Given the description of an element on the screen output the (x, y) to click on. 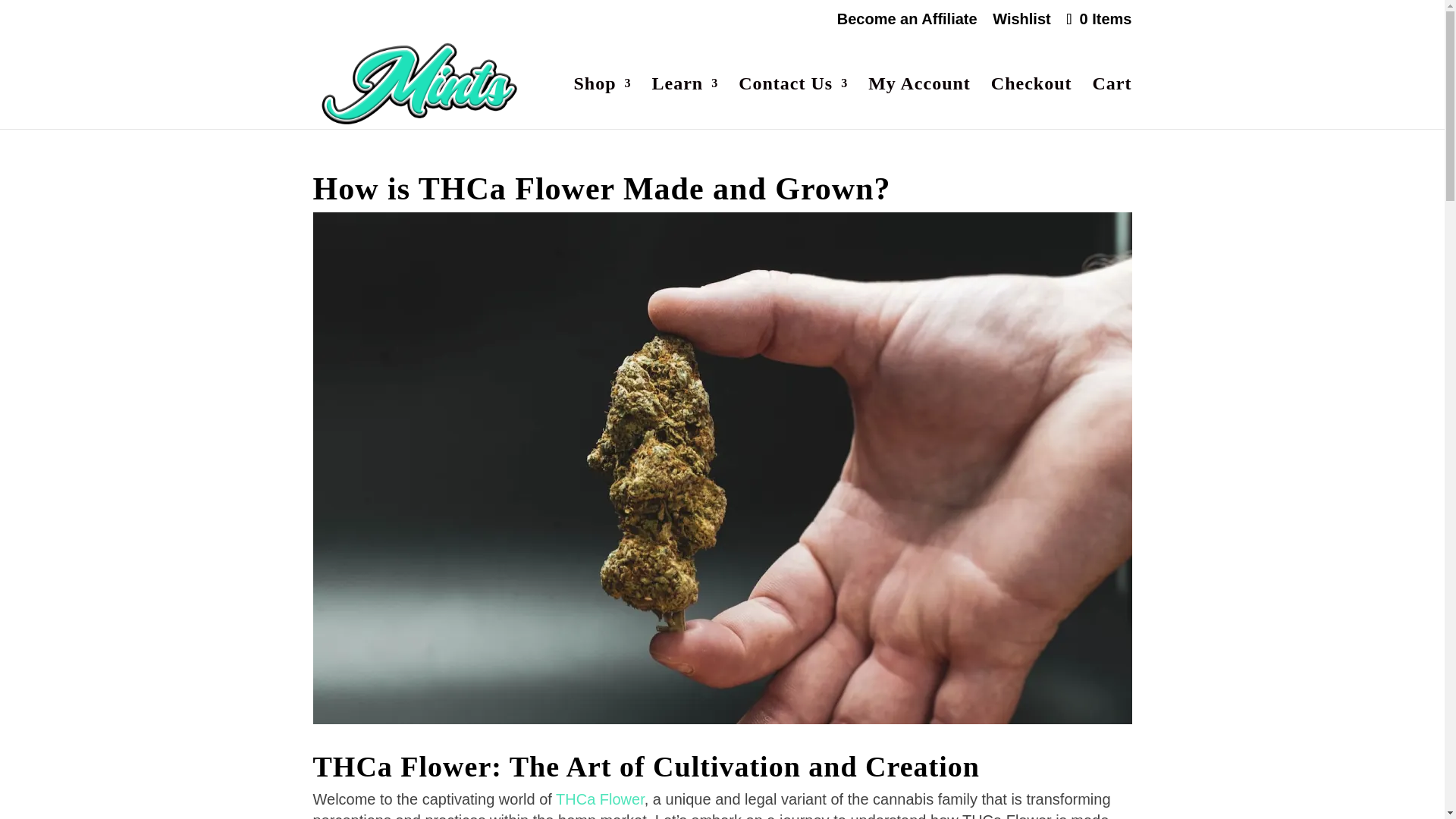
Become an Affiliate (906, 24)
Checkout (1031, 102)
Shop (601, 102)
Learn (685, 102)
Contact Us (792, 102)
0 Items (1097, 18)
Wishlist (1021, 24)
My Account (919, 102)
THCa Flower (600, 799)
